Given the description of an element on the screen output the (x, y) to click on. 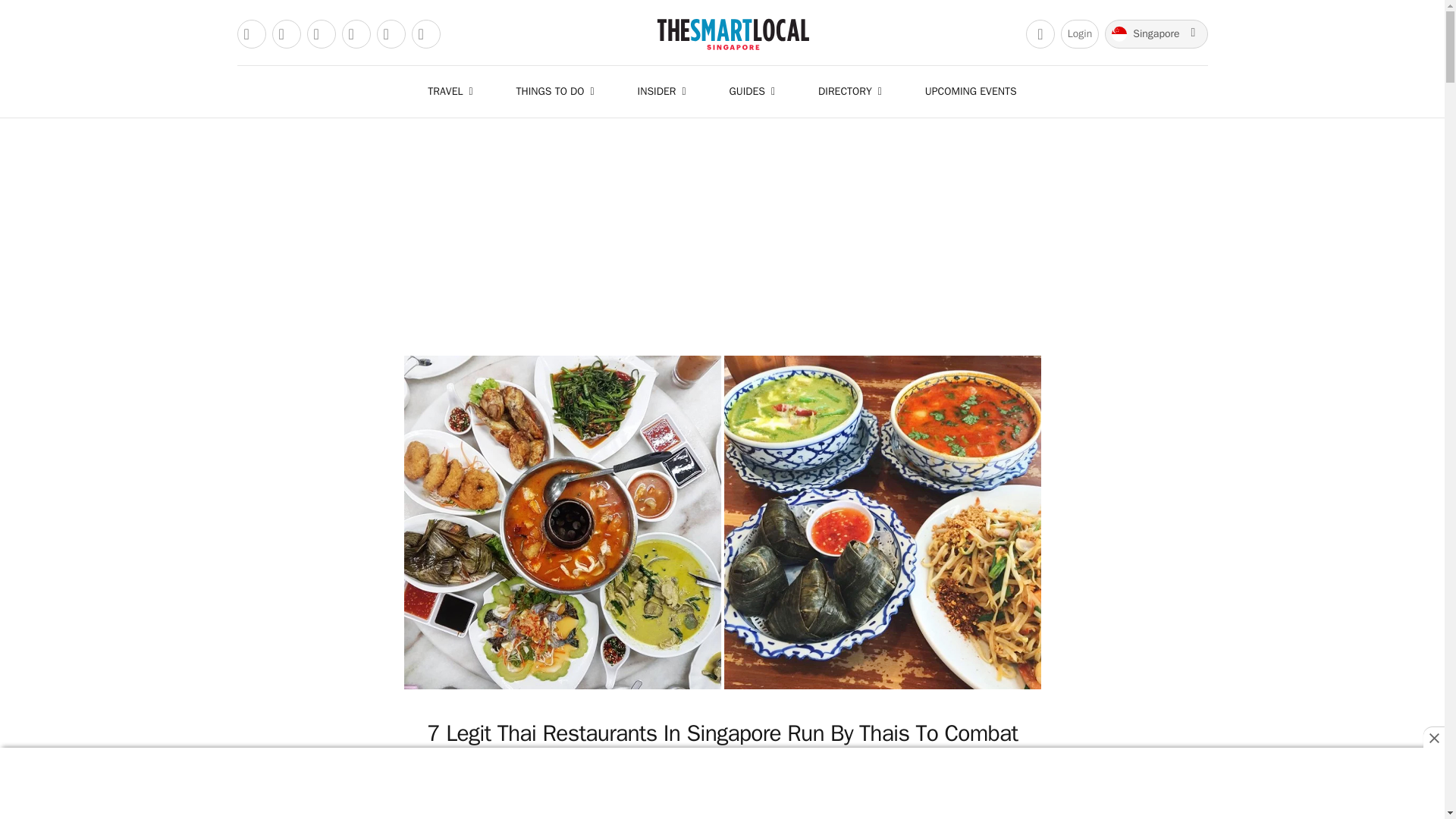
Login (1080, 33)
3rd party ad content (721, 785)
Posts by Hazel Cheng (601, 801)
Singapore (1156, 33)
Open search popup (1040, 33)
TRAVEL (453, 91)
